Given the description of an element on the screen output the (x, y) to click on. 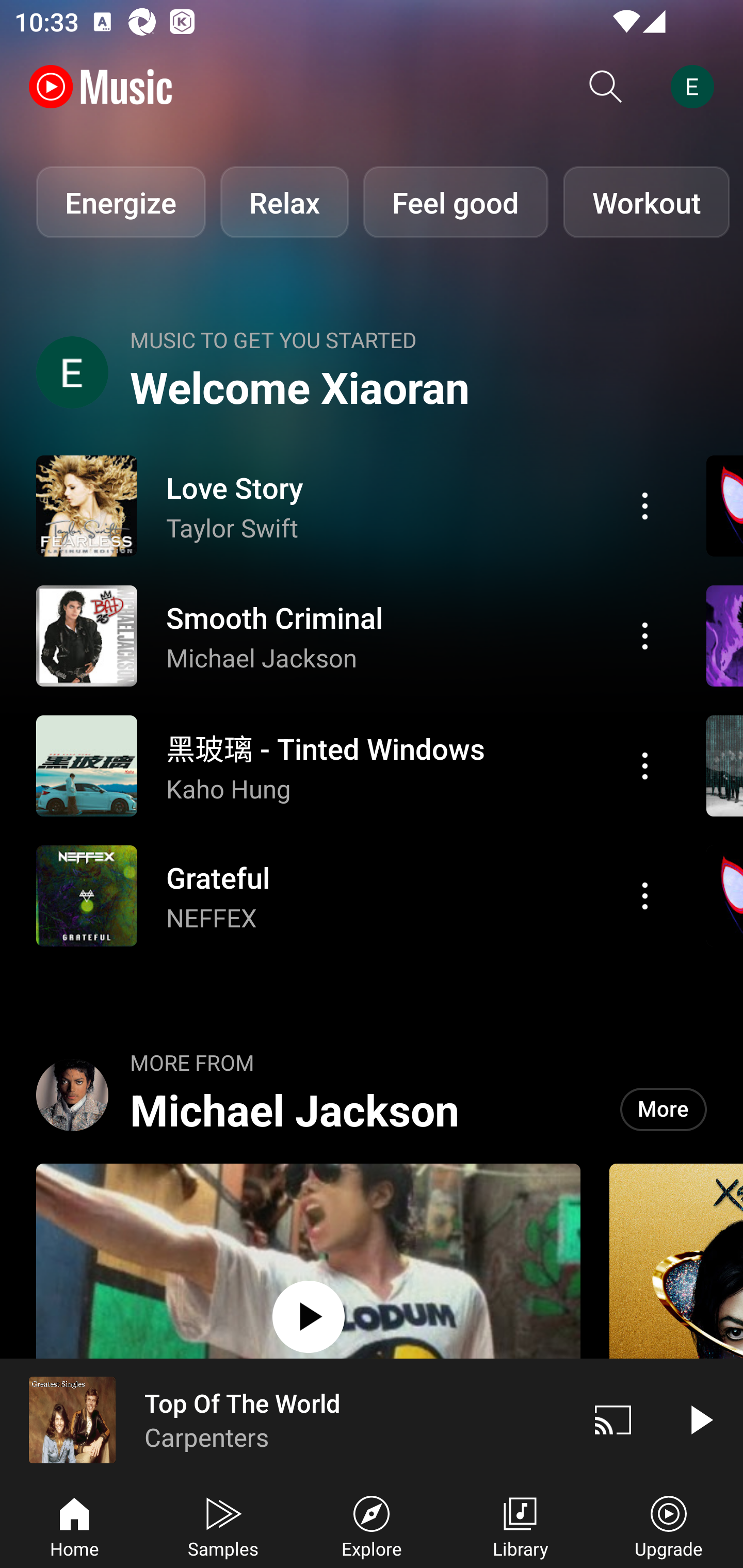
Search (605, 86)
Account (696, 86)
Action menu (349, 505)
Action menu (644, 505)
Action menu (349, 635)
Action menu (644, 635)
Action menu (349, 765)
Action menu (644, 765)
Action menu (349, 896)
Action menu (644, 896)
Top Of The World Carpenters (284, 1419)
Cast. Disconnected (612, 1419)
Play video (699, 1419)
Home (74, 1524)
Samples (222, 1524)
Explore (371, 1524)
Library (519, 1524)
Upgrade (668, 1524)
